Given the description of an element on the screen output the (x, y) to click on. 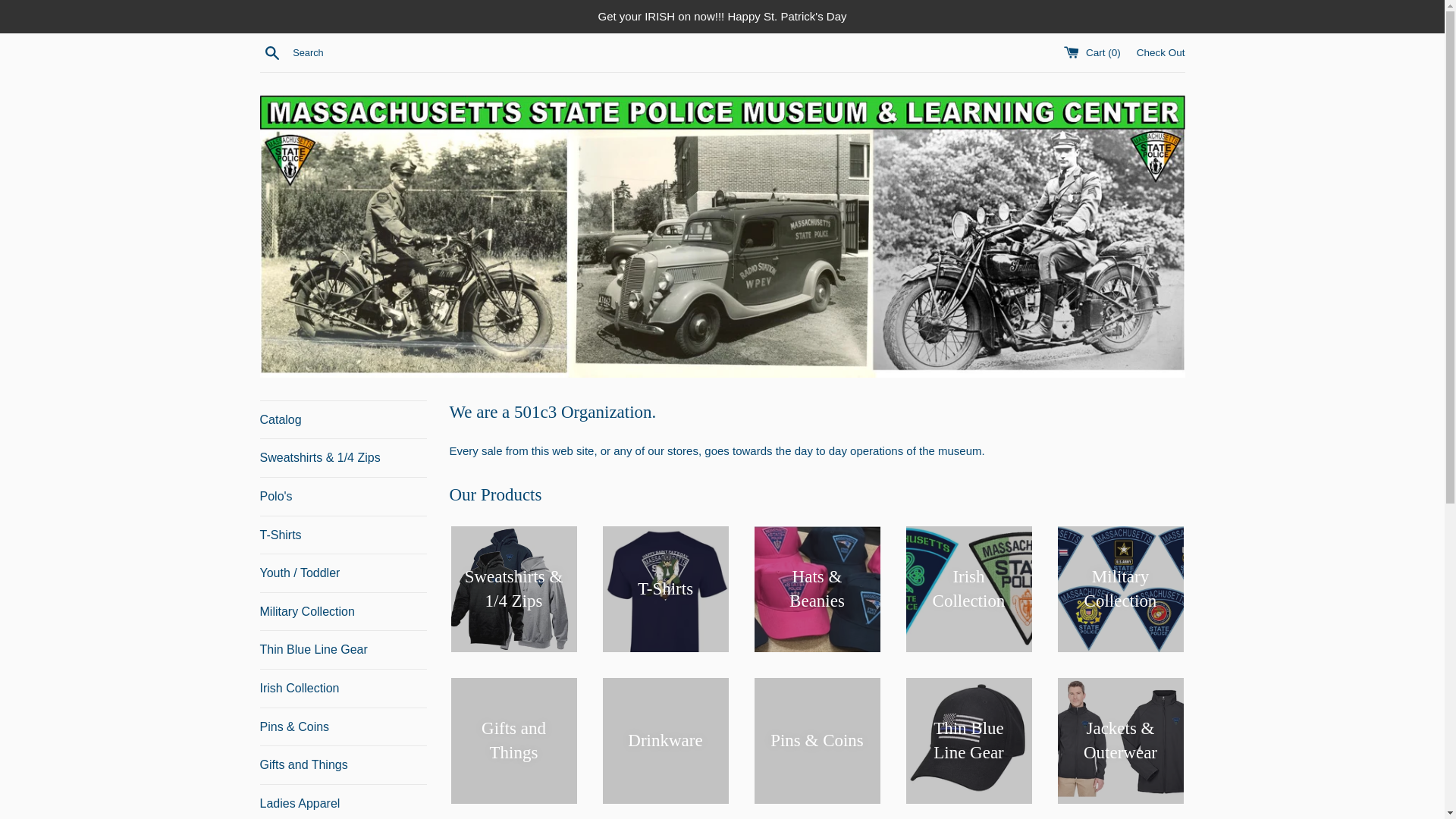
Check Out (1161, 52)
Catalog (342, 419)
Gifts and Things (513, 776)
Polo's (342, 496)
T-Shirts (342, 535)
Drinkware (664, 811)
T-Shirts (664, 588)
Ladies Apparel (342, 801)
Military Collection (342, 611)
Military Collection (1120, 614)
